Given the description of an element on the screen output the (x, y) to click on. 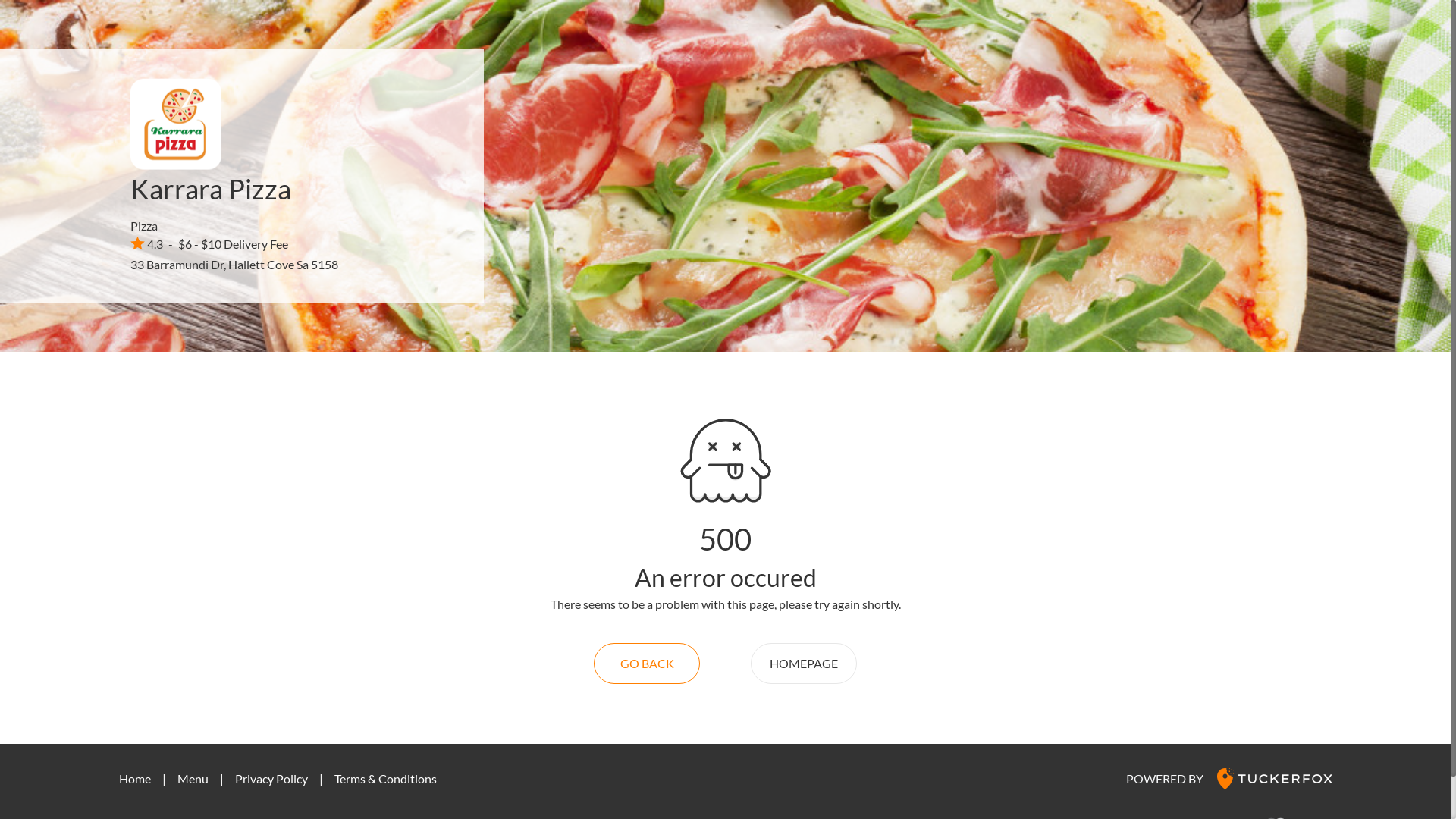
Terms & Conditions Element type: text (384, 778)
Menu Element type: text (192, 778)
HOMEPAGE Element type: text (803, 663)
Home Element type: text (134, 778)
Privacy Policy Element type: text (271, 778)
4.3 Element type: text (146, 243)
GO BACK Element type: text (646, 663)
Karrara Pizza Element type: text (210, 188)
